Given the description of an element on the screen output the (x, y) to click on. 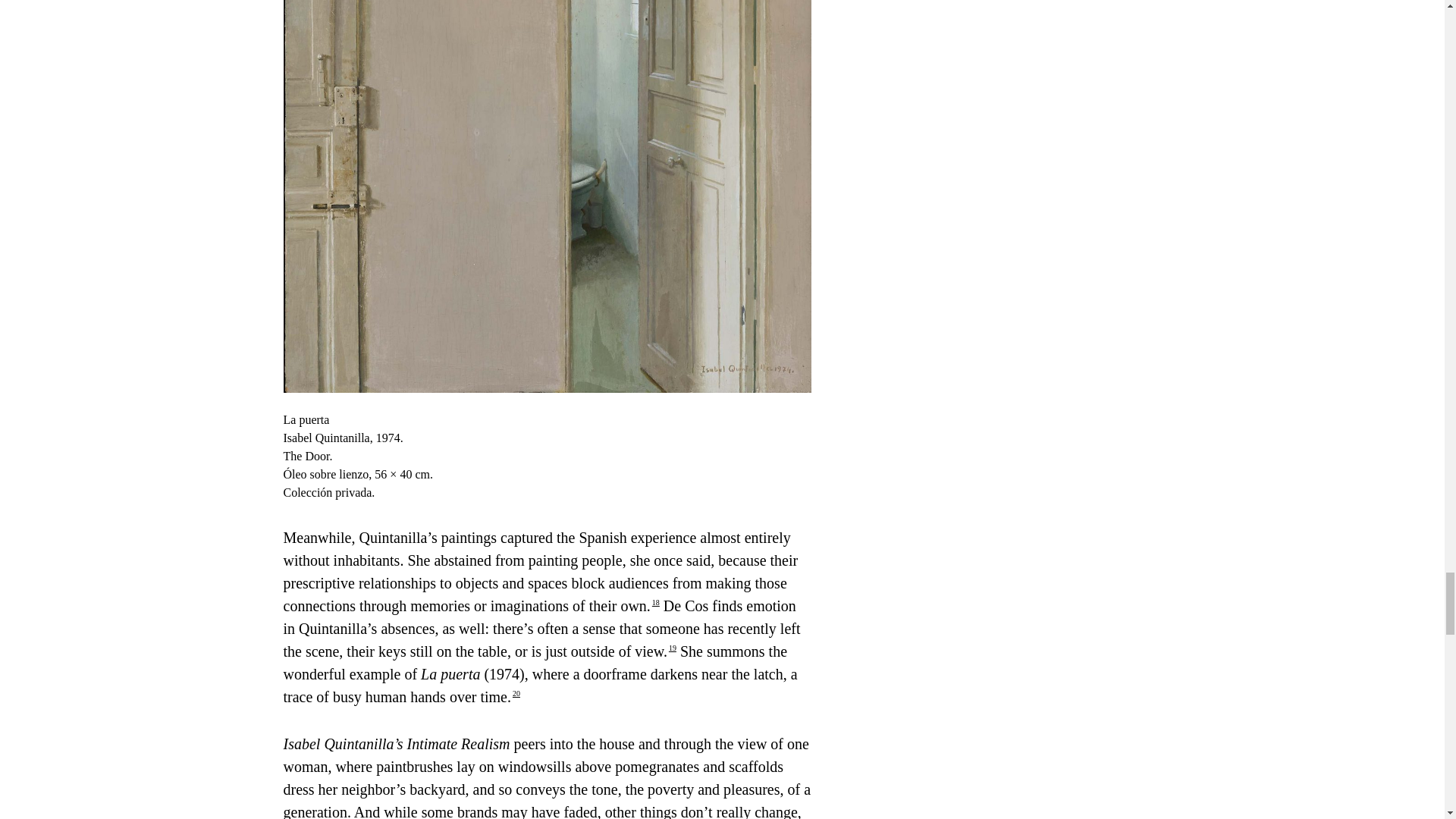
19 (672, 647)
18 (655, 602)
20 (515, 693)
